Given the description of an element on the screen output the (x, y) to click on. 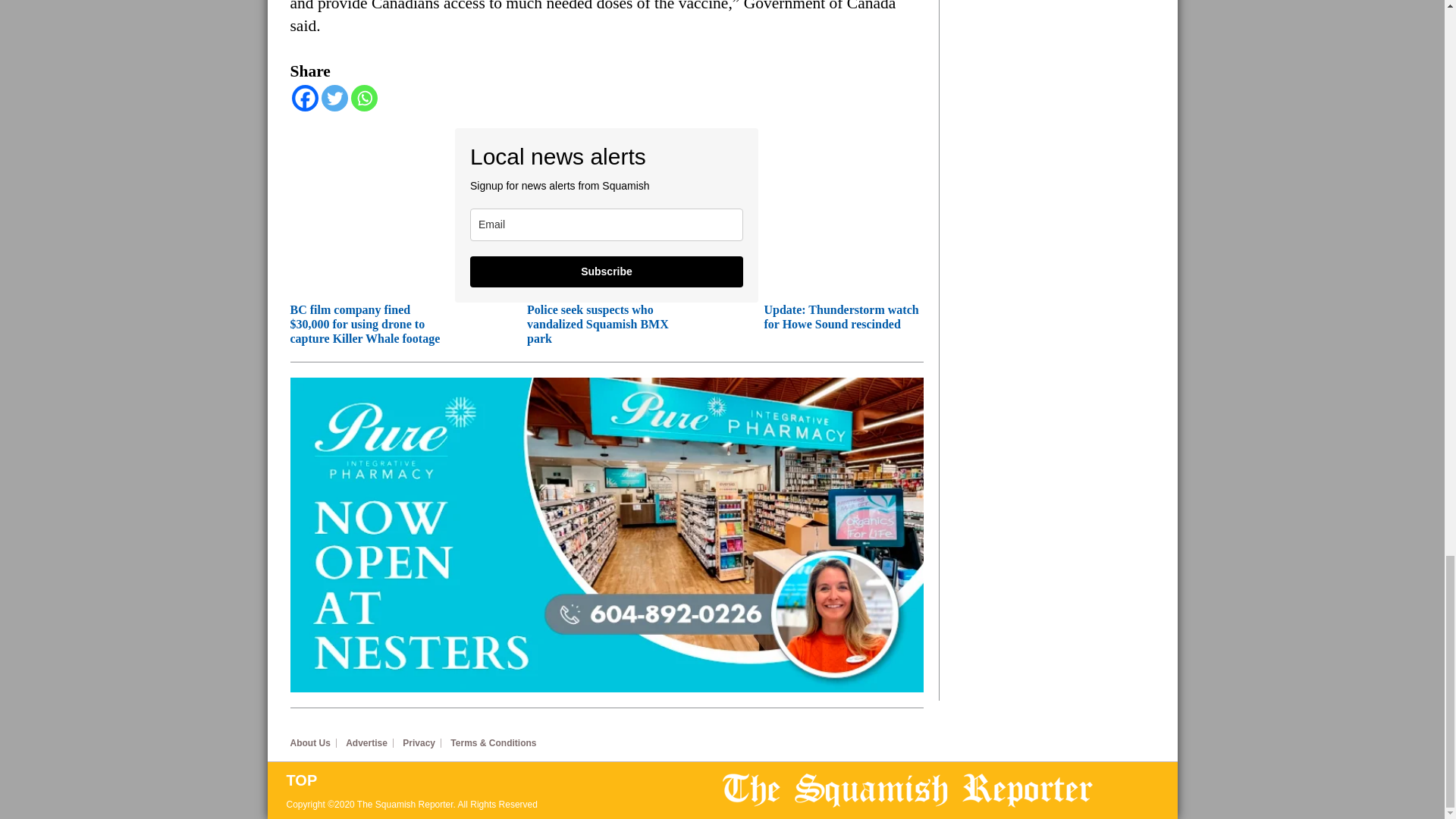
Whatsapp (363, 98)
Twitter (334, 98)
Back To Top (504, 780)
Facebook (304, 98)
Subscribe (606, 271)
About Us (312, 742)
Advertise (369, 742)
